Given the description of an element on the screen output the (x, y) to click on. 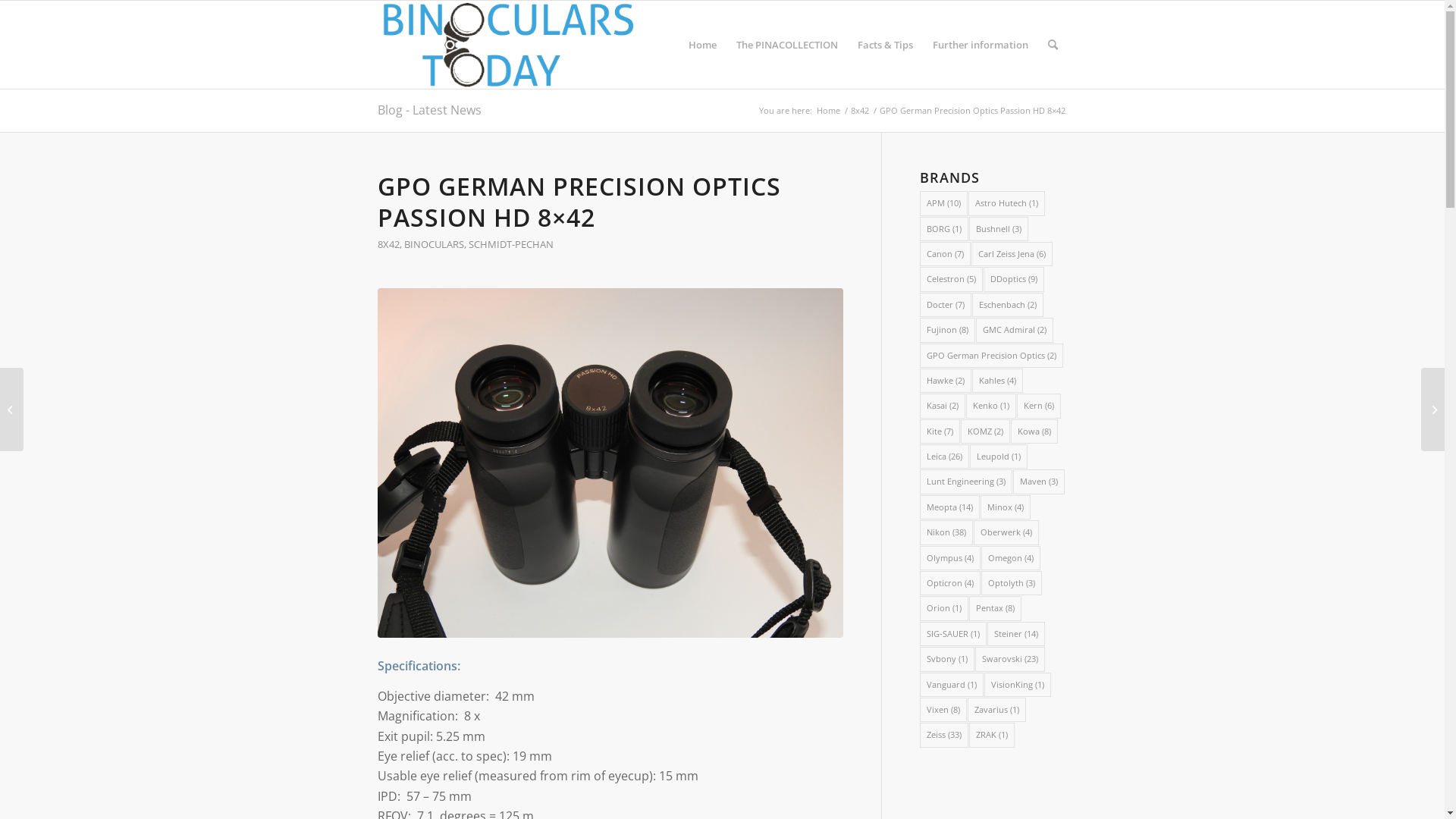
Maven (3) Element type: text (1038, 481)
Kahles (4) Element type: text (997, 380)
Lunt Engineering (3) Element type: text (965, 481)
Swarovski (23) Element type: text (1009, 658)
Kite (7) Element type: text (939, 431)
BORG (1) Element type: text (943, 228)
Opticron (4) Element type: text (949, 583)
VisionKing (1) Element type: text (1017, 684)
GMC Admiral (2) Element type: text (1014, 329)
Vanguard (1) Element type: text (951, 684)
Nikon (38) Element type: text (945, 532)
Kern (6) Element type: text (1038, 405)
Oberwerk (4) Element type: text (1005, 532)
Further information Element type: text (979, 44)
Canon (7) Element type: text (944, 253)
Orion (1) Element type: text (943, 608)
Meopta (14) Element type: text (949, 507)
GPO German Precision Optics (2) Element type: text (991, 354)
Facts & Tips Element type: text (884, 44)
Celestron (5) Element type: text (950, 278)
APM (10) Element type: text (943, 203)
ZRAK (1) Element type: text (991, 734)
BINOCULARS Element type: text (433, 244)
Kasai (2) Element type: text (942, 405)
Fujinon (8) Element type: text (947, 329)
KOMZ (2) Element type: text (985, 431)
Svbony (1) Element type: text (946, 658)
SIG-SAUER (1) Element type: text (952, 633)
Leica (26) Element type: text (944, 456)
Eschenbach (2) Element type: text (1007, 304)
Vixen (8) Element type: text (942, 709)
8X42 Element type: text (388, 244)
Astro Hutech (1) Element type: text (1006, 203)
Kowa (8) Element type: text (1033, 431)
The PINACOLLECTION Element type: text (786, 44)
Omegon (4) Element type: text (1010, 558)
Carl Zeiss Jena (6) Element type: text (1011, 253)
8x42 Element type: text (858, 110)
Minox (4) Element type: text (1005, 507)
Pentax (8) Element type: text (995, 608)
Bushnell (3) Element type: text (998, 228)
DDoptics (9) Element type: text (1013, 278)
Home Element type: text (828, 110)
GPO a Element type: hover (610, 462)
Olympus (4) Element type: text (949, 558)
WEBLOGO Element type: hover (507, 44)
Hawke (2) Element type: text (945, 380)
Home Element type: text (701, 44)
Zavarius (1) Element type: text (996, 709)
Docter (7) Element type: text (945, 304)
Kenko (1) Element type: text (991, 405)
Optolyth (3) Element type: text (1011, 583)
Leupold (1) Element type: text (998, 456)
Zeiss (33) Element type: text (943, 734)
SCHMIDT-PECHAN Element type: text (510, 244)
Blog - Latest News Element type: text (429, 109)
Steiner (14) Element type: text (1015, 633)
